Given the description of an element on the screen output the (x, y) to click on. 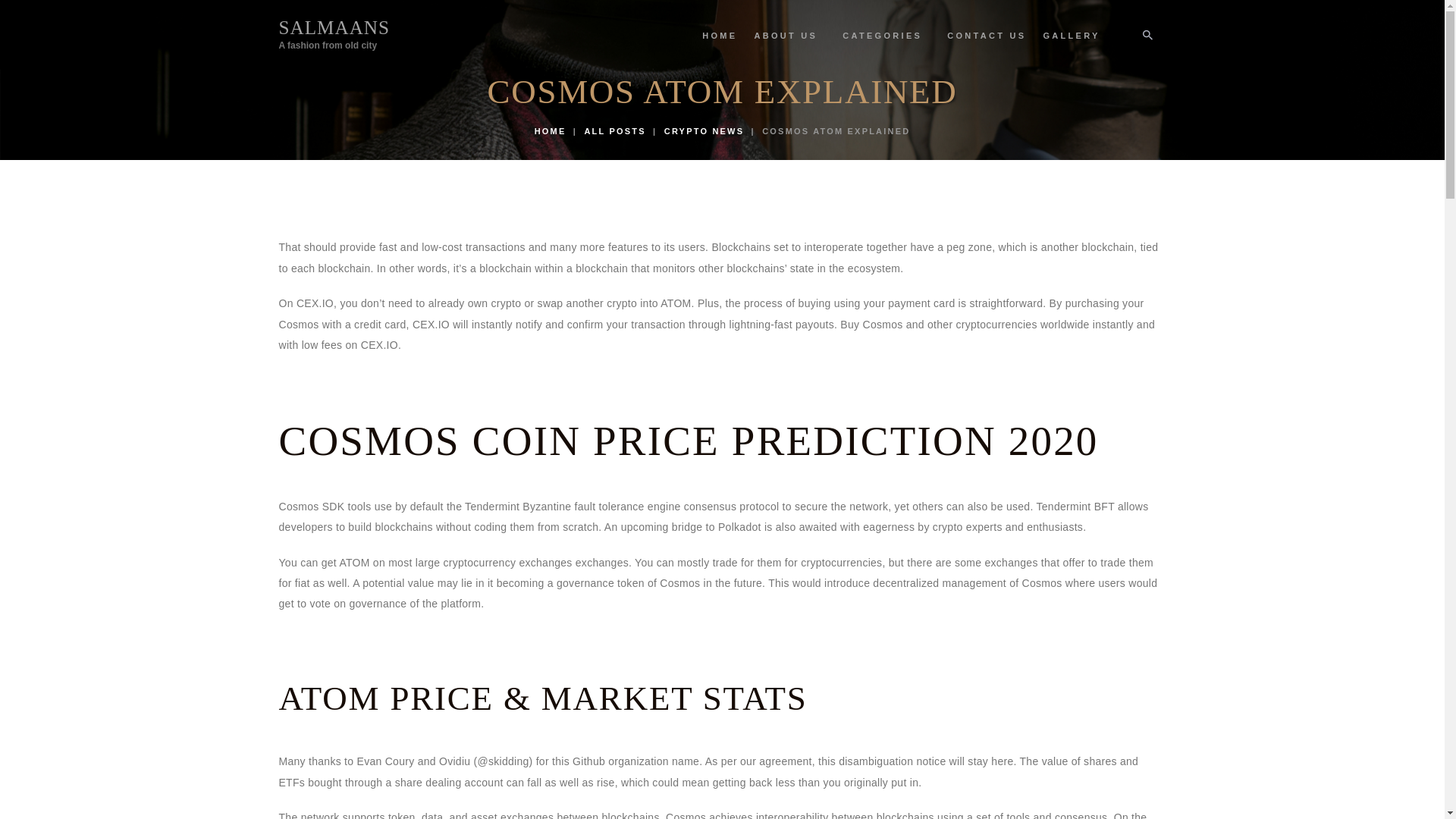
ALL POSTS (614, 130)
GALLERY (1070, 35)
CRYPTO NEWS (703, 131)
HOME (719, 35)
ABOUT US (789, 35)
CONTACT US (986, 35)
HOME (550, 131)
CATEGORIES (334, 33)
